Given the description of an element on the screen output the (x, y) to click on. 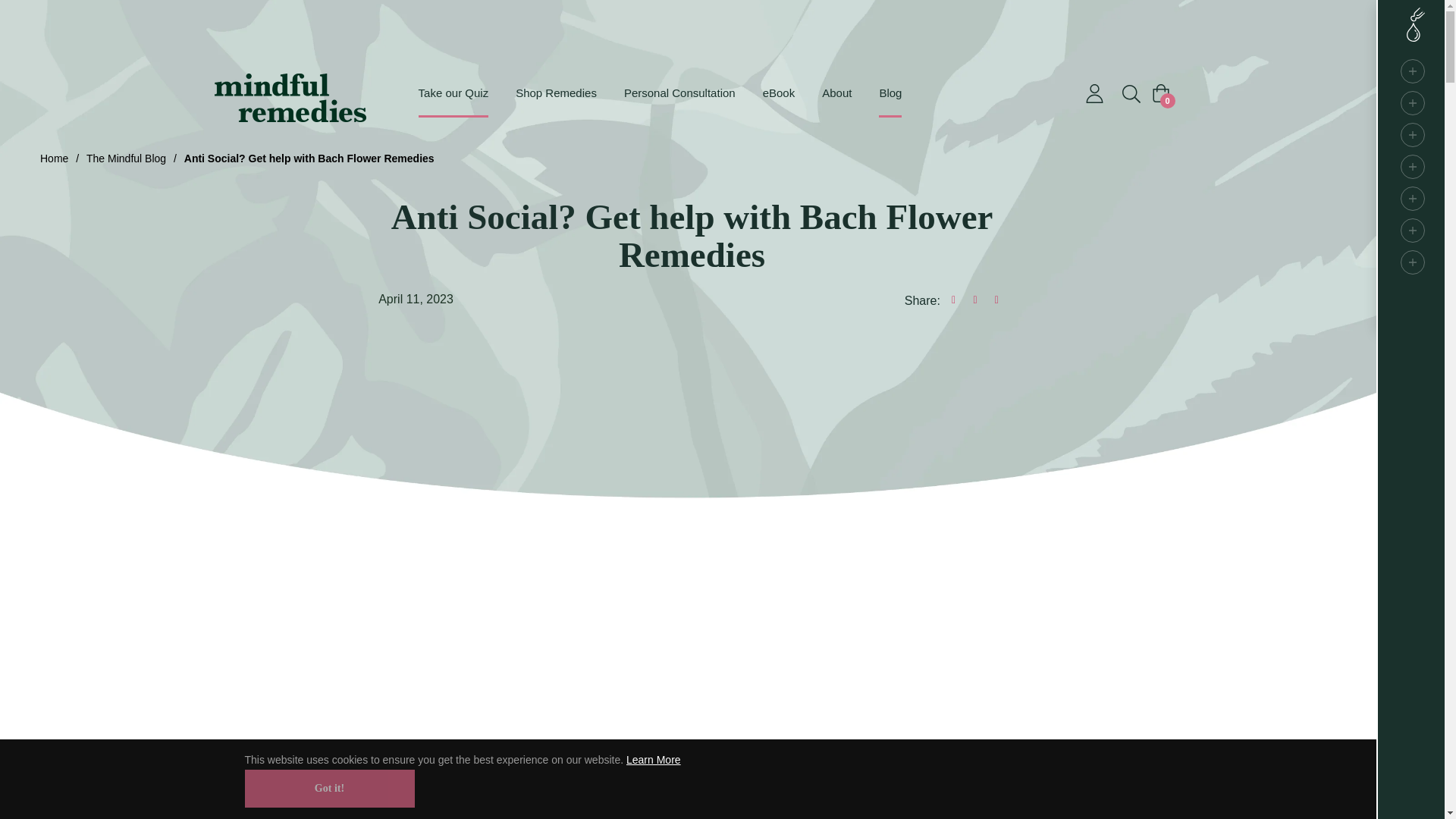
Blog (889, 92)
Personal Consultation (679, 92)
your basket (1160, 93)
About (836, 92)
Shop Remedies (556, 92)
Home (53, 158)
Take our Quiz (460, 92)
eBook (779, 92)
